Given the description of an element on the screen output the (x, y) to click on. 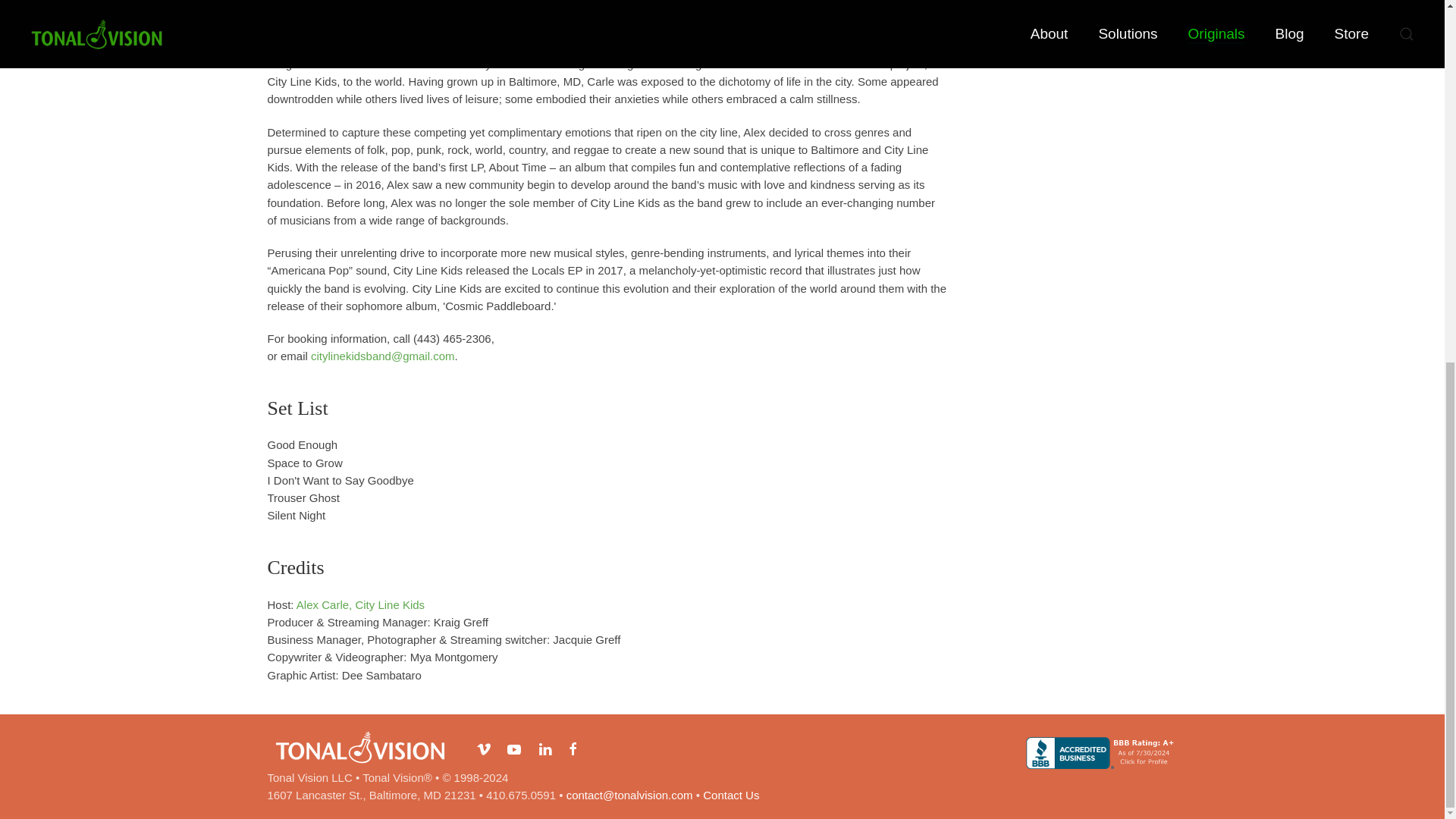
Jacquie Greff on Vimeo (485, 748)
Alex Carle, City Line Kids (361, 604)
